Given the description of an element on the screen output the (x, y) to click on. 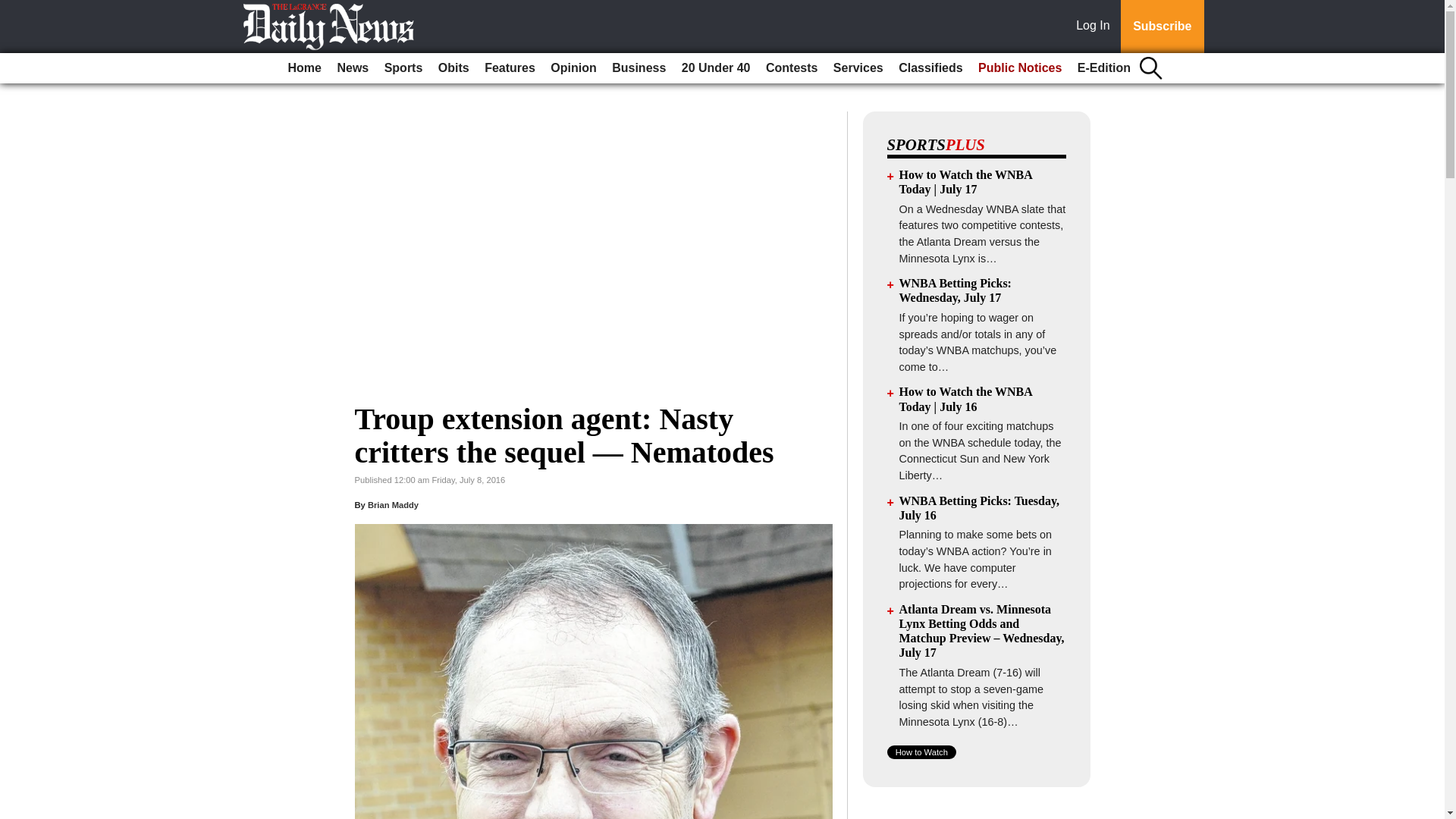
Features (510, 68)
News (352, 68)
Go (13, 9)
WNBA Betting Picks: Wednesday, July 17 (955, 289)
Brian Maddy (393, 504)
Home (304, 68)
WNBA Betting Picks: Tuesday, July 16 (979, 507)
Public Notices (1019, 68)
Business (638, 68)
Contests (792, 68)
Sports (403, 68)
E-Edition (1104, 68)
How to Watch (921, 752)
Log In (1095, 26)
Services (858, 68)
